Given the description of an element on the screen output the (x, y) to click on. 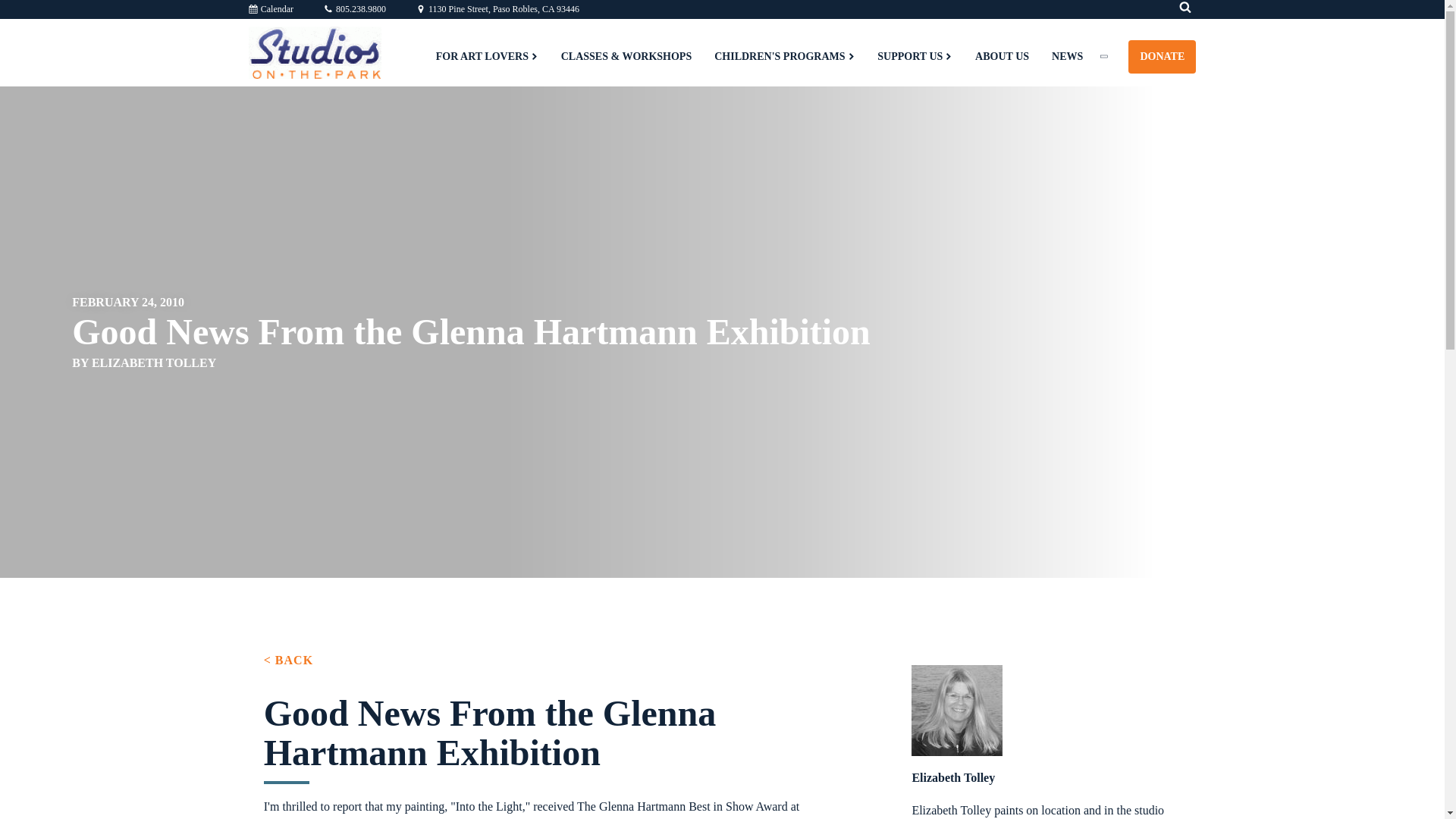
FOR ART LOVERS (487, 56)
MORE (1111, 56)
1130 Pine Street, Paso Robles, CA 93446 (497, 8)
SUPPORT US (914, 56)
DONATE (1161, 56)
CHILDREN'S PROGRAMS (784, 56)
Calendar (271, 8)
ABOUT US (1002, 56)
Search (22, 12)
NEWS (1067, 56)
